Given the description of an element on the screen output the (x, y) to click on. 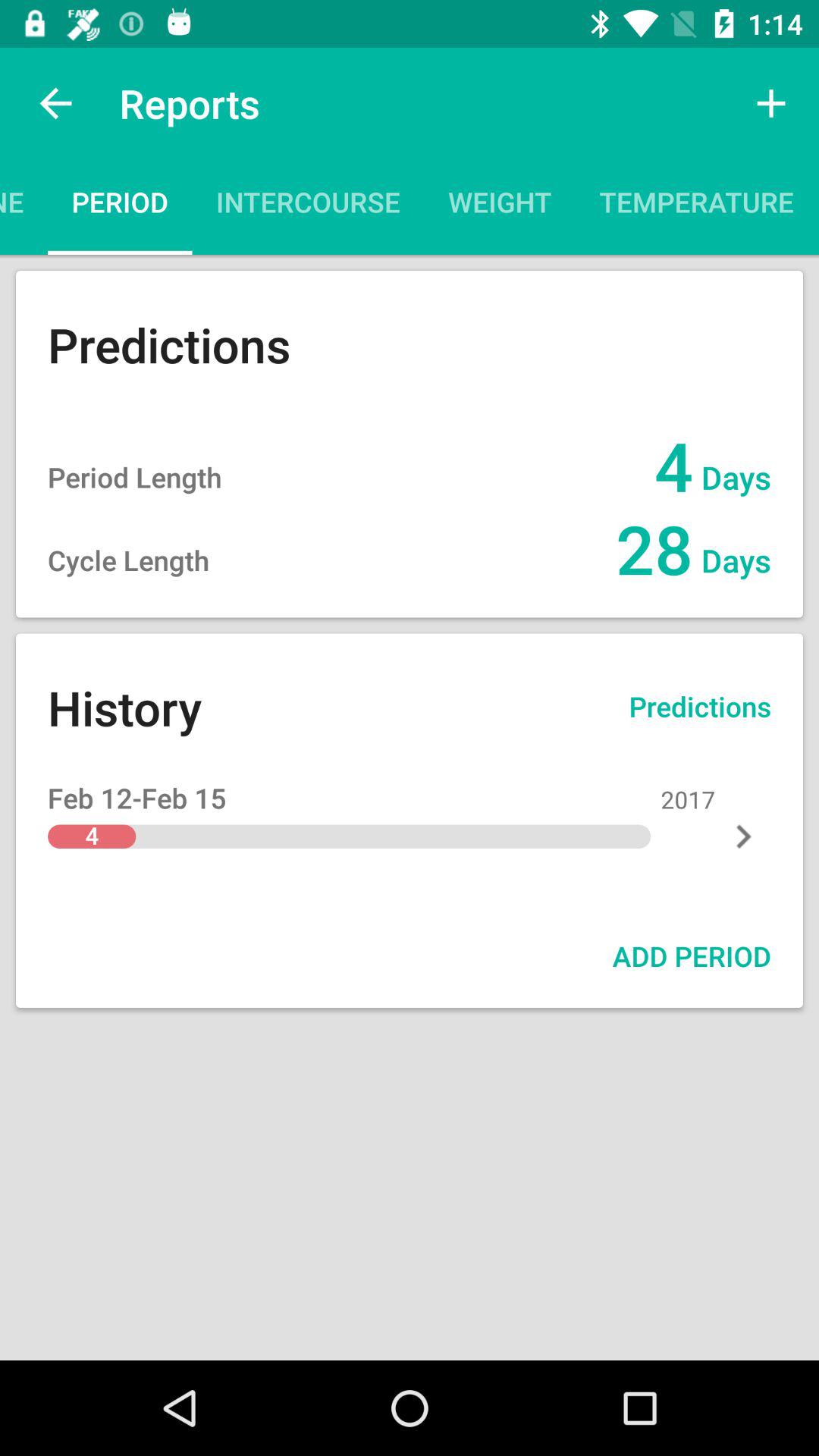
choose the item next to the symptoms icon (696, 206)
